Given the description of an element on the screen output the (x, y) to click on. 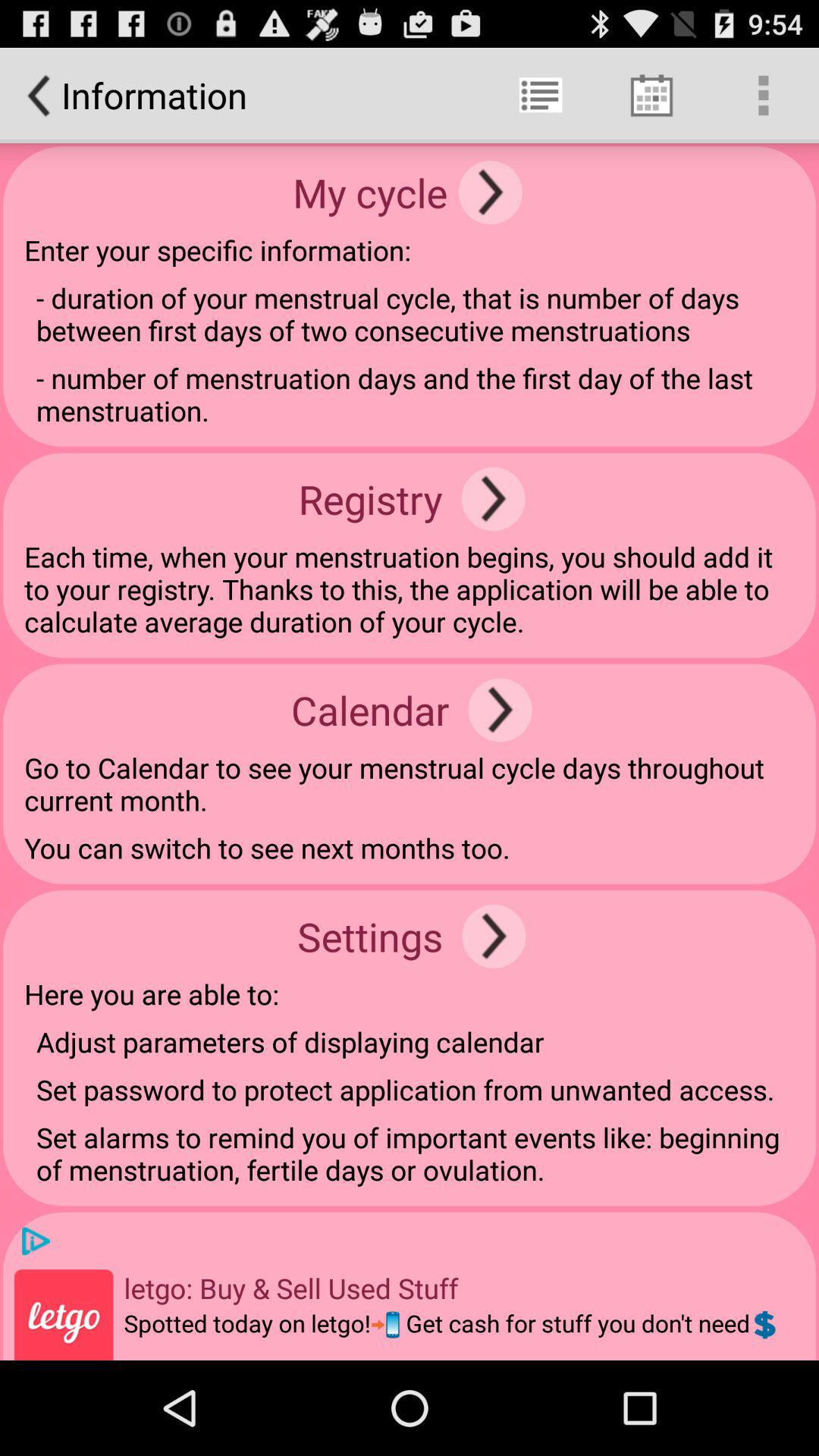
turn off app above the each time when item (493, 499)
